Given the description of an element on the screen output the (x, y) to click on. 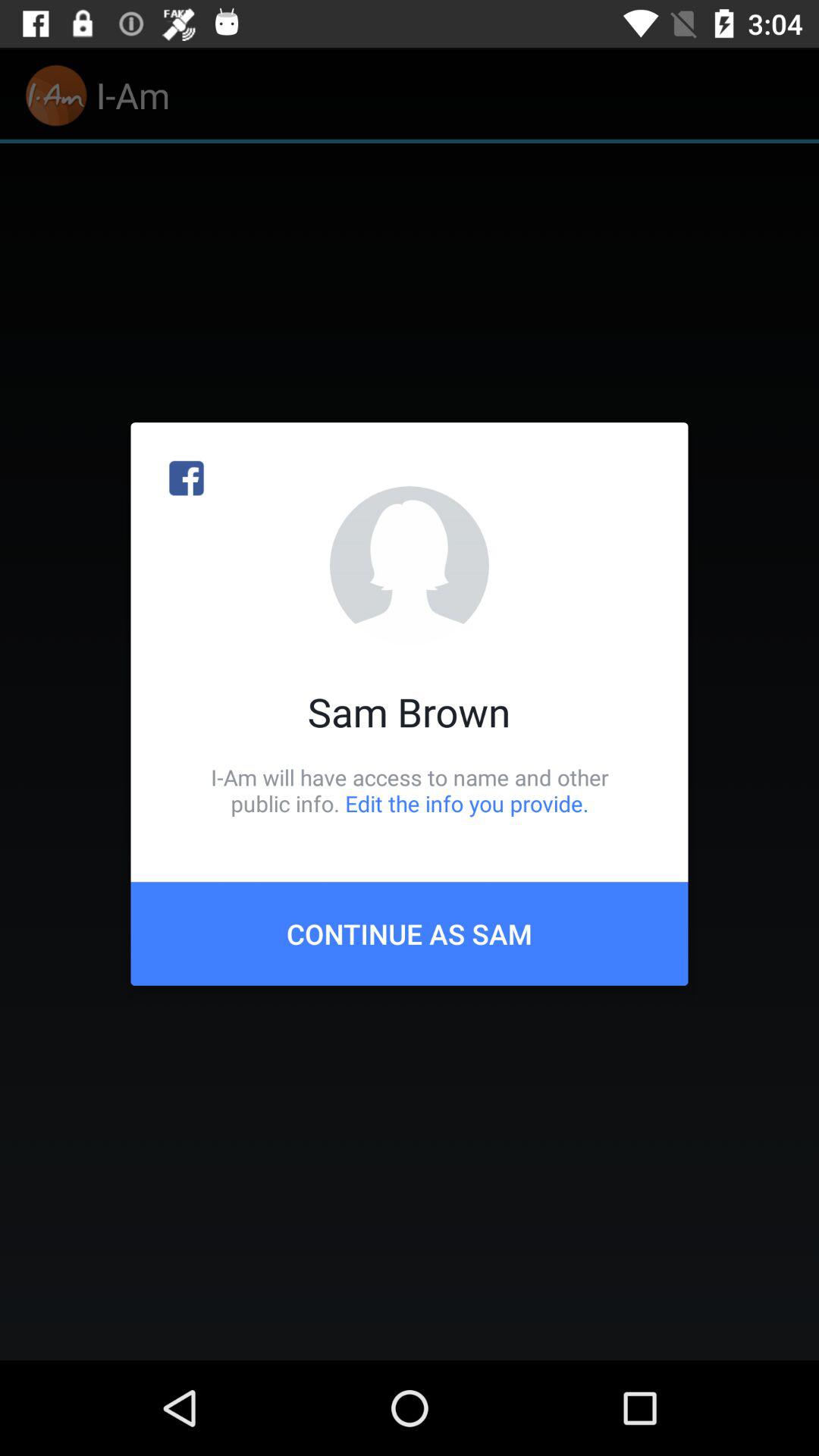
scroll until continue as sam (409, 933)
